Given the description of an element on the screen output the (x, y) to click on. 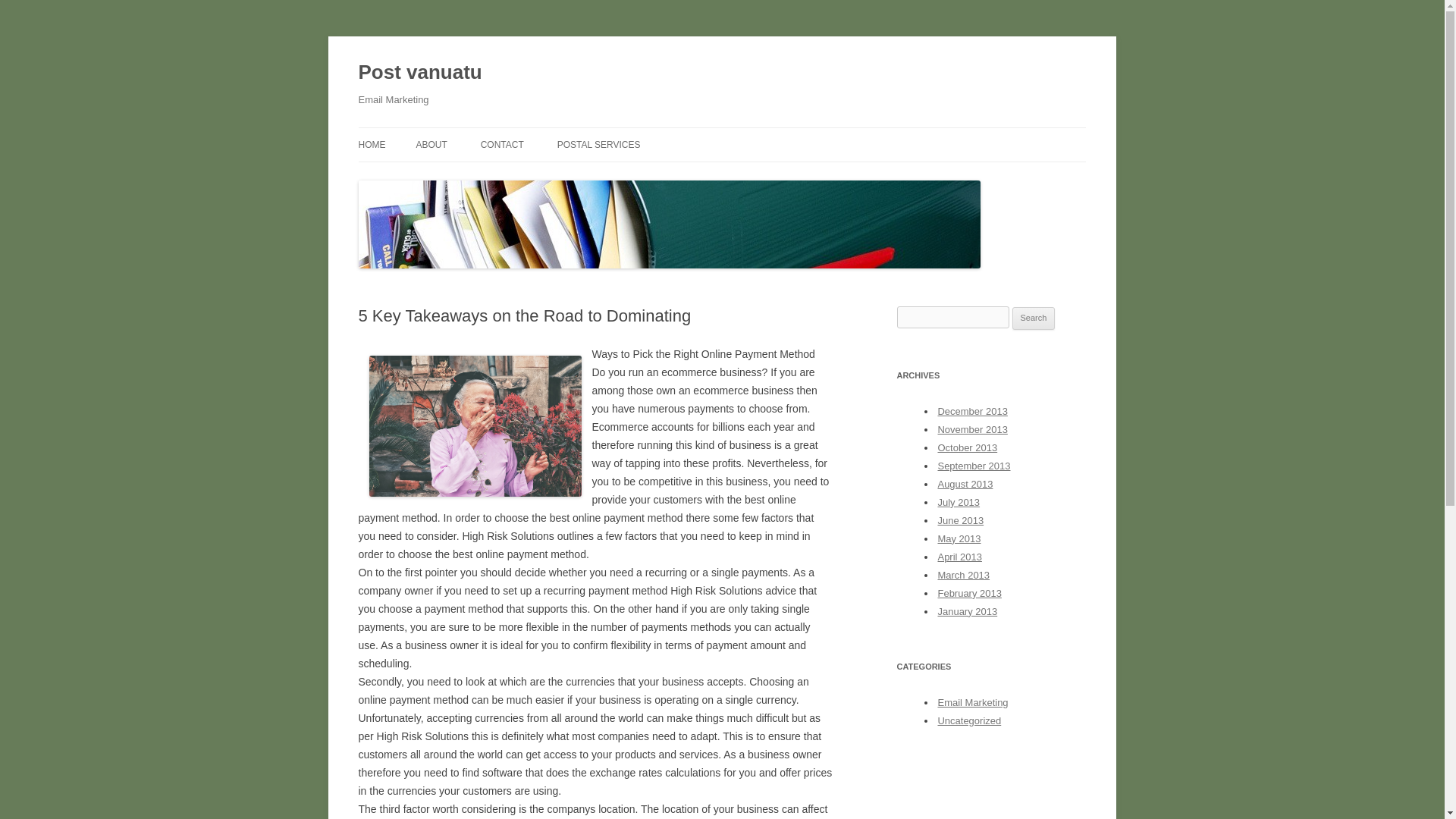
ABOUT (430, 144)
December 2013 (972, 410)
December 2013 (972, 410)
August 2013 (964, 483)
March 2013 (963, 574)
April 2013 (959, 556)
January 2013 (967, 611)
September 2013 (973, 465)
July 2013 (958, 501)
May 2013 (958, 538)
